Given the description of an element on the screen output the (x, y) to click on. 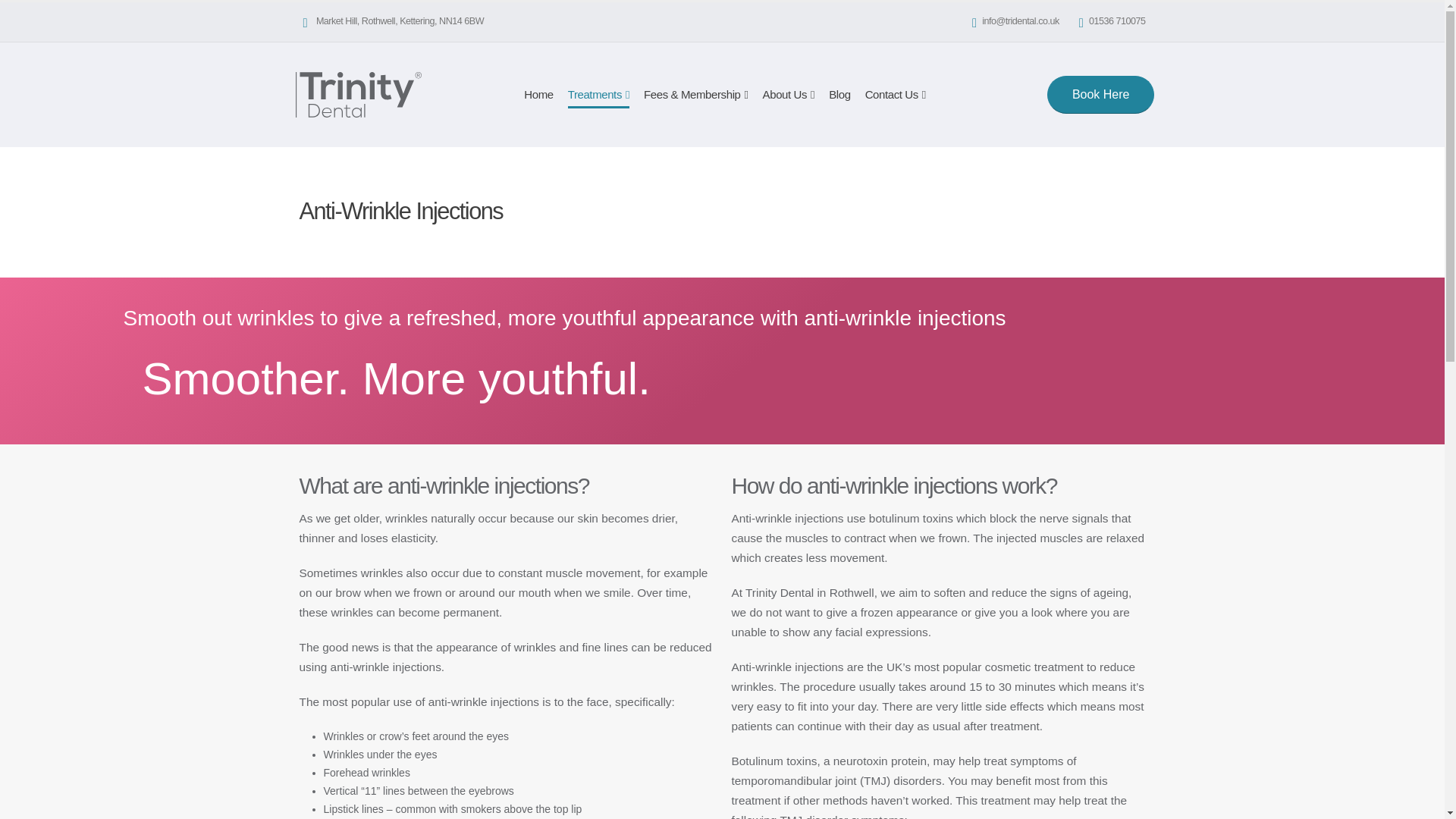
Contact Us (896, 94)
01536 710075 (1117, 21)
Treatments (598, 94)
Trinity Dental - Dentist in Rothwell (357, 94)
About Us (788, 94)
